Given the description of an element on the screen output the (x, y) to click on. 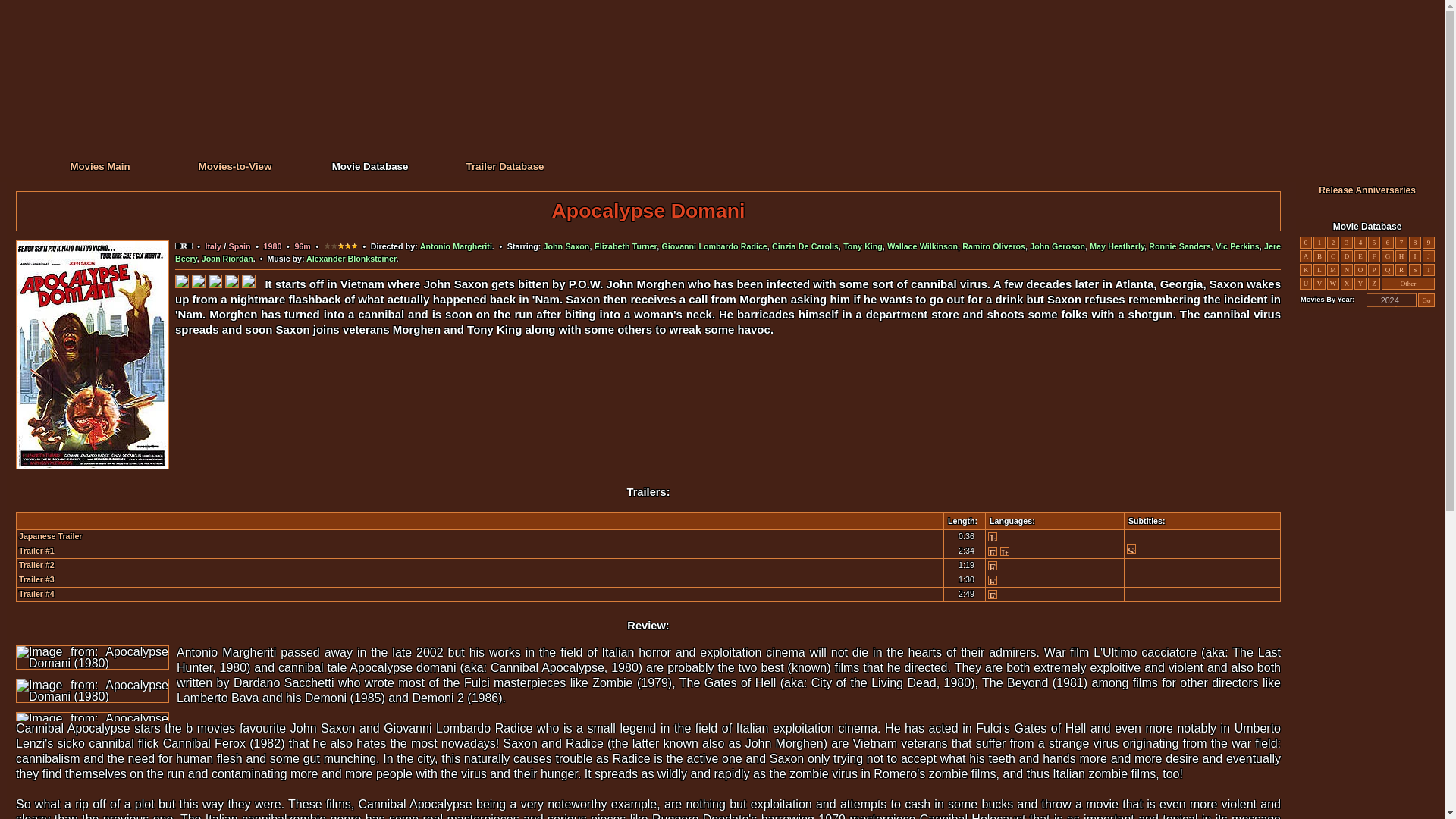
English (992, 593)
Movies Main (99, 165)
Japanese Trailer (50, 535)
English (992, 551)
English (992, 565)
Spanish (1130, 548)
Japanese (992, 536)
Release Anniversaries (1367, 190)
Movies-to-View (235, 165)
English (992, 579)
